Given the description of an element on the screen output the (x, y) to click on. 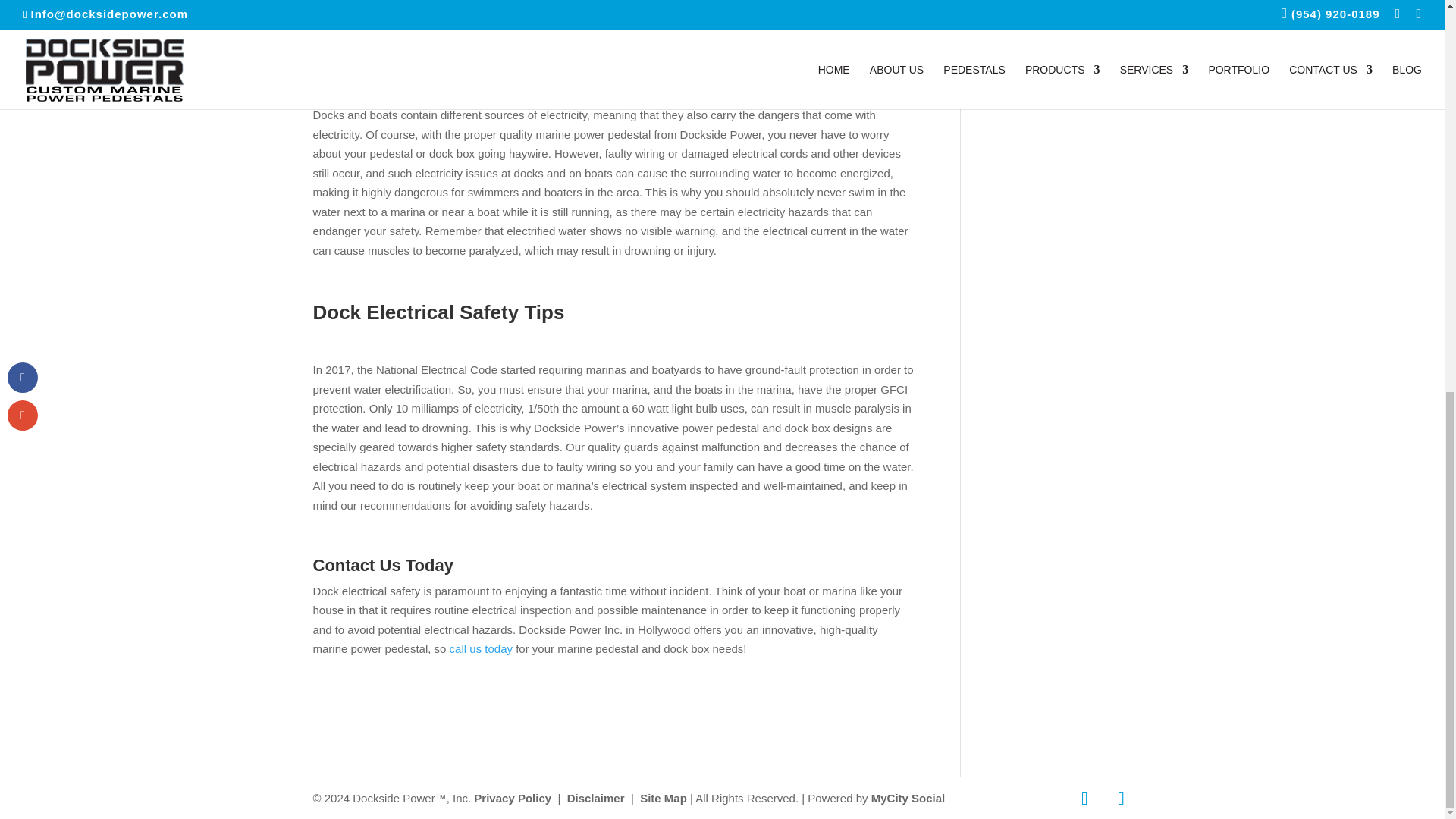
call us today (480, 648)
MyCity Social (907, 797)
